Given the description of an element on the screen output the (x, y) to click on. 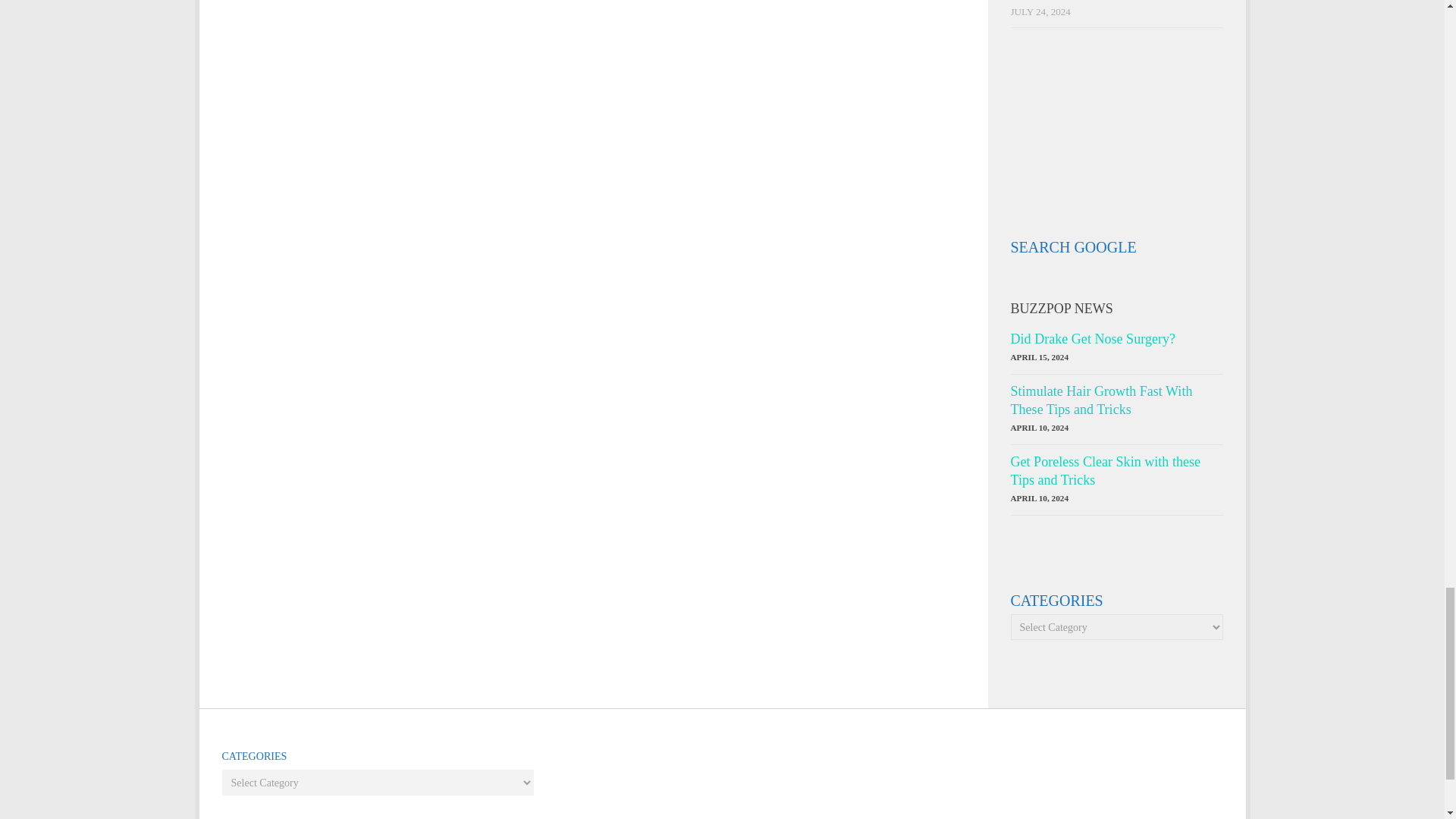
Chelsea News (1055, 151)
